Given the description of an element on the screen output the (x, y) to click on. 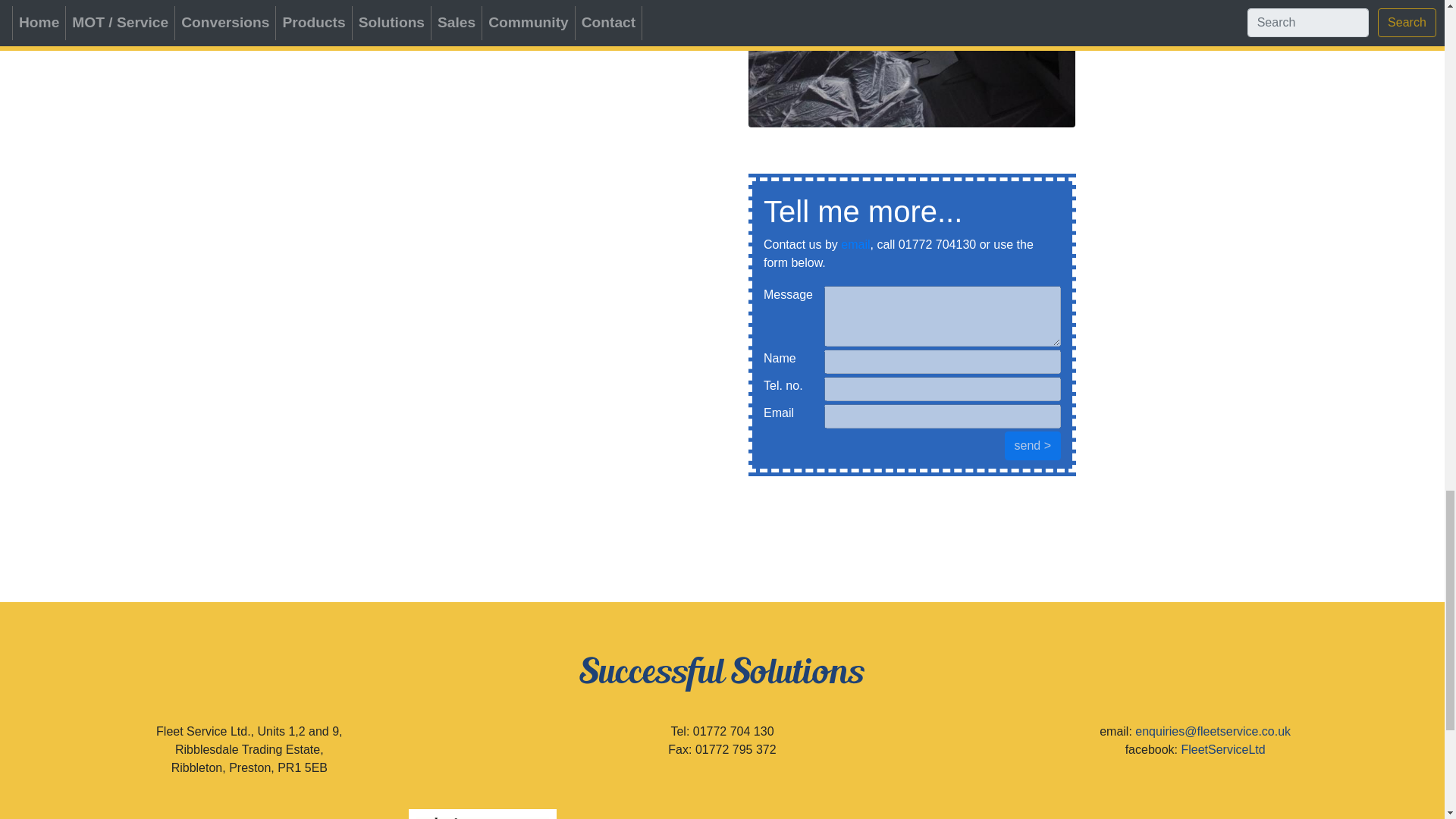
FleetServiceLtd (1222, 748)
